Given the description of an element on the screen output the (x, y) to click on. 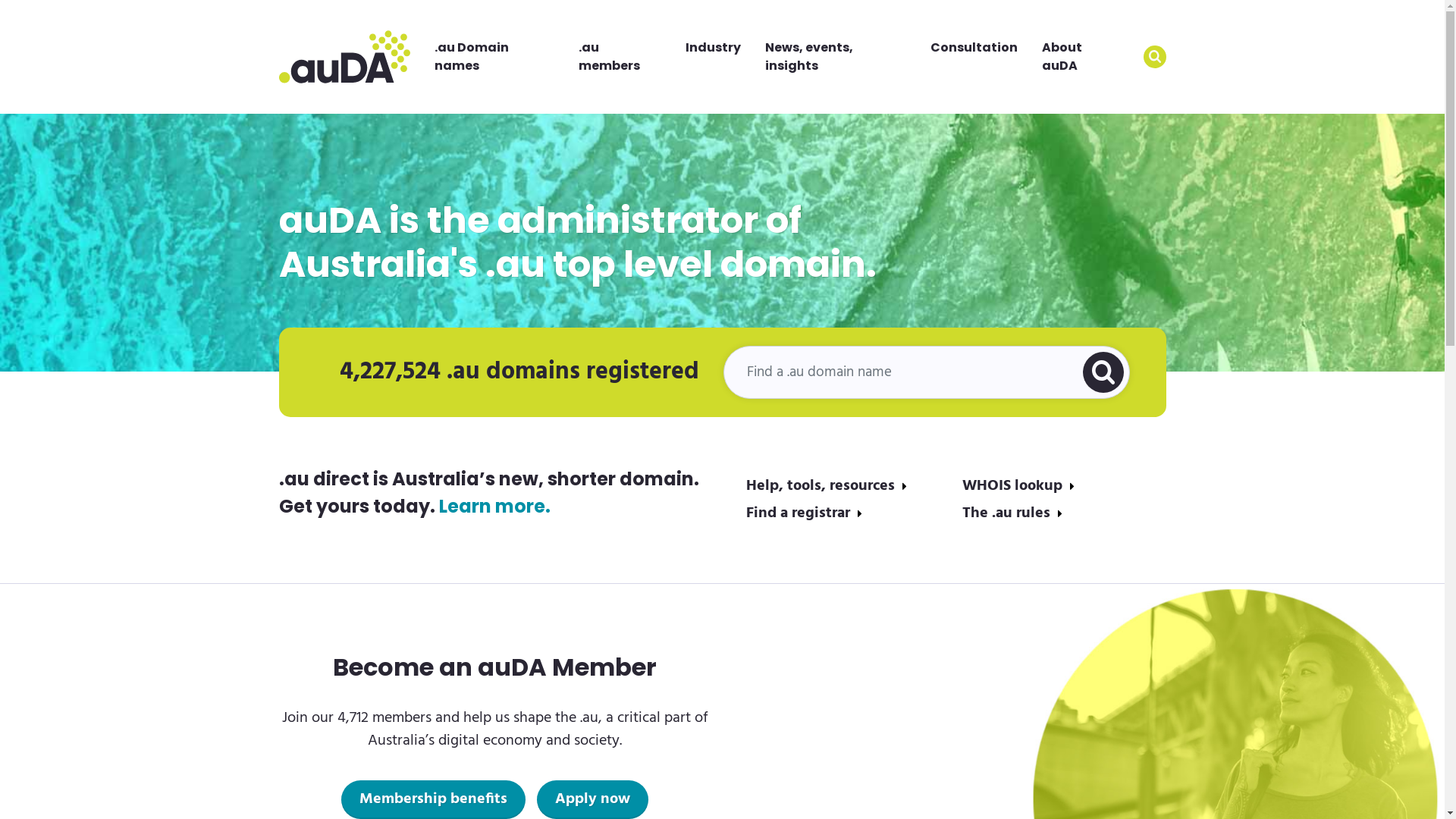
Help, tools, resources Element type: text (826, 485)
Apply Element type: text (1154, 56)
WHOIS lookup Element type: text (1017, 485)
Home Element type: hover (344, 57)
.au members Element type: text (619, 56)
Submit Element type: text (1102, 371)
Industry Element type: text (713, 47)
Consultation Element type: text (973, 47)
The .au rules Element type: text (1011, 513)
Skip to main content Element type: text (0, 0)
Learn more. Element type: text (493, 505)
.au Domain names Element type: text (494, 56)
News, events, insights Element type: text (835, 56)
Find a registrar Element type: text (804, 513)
About auDA Element type: text (1079, 56)
